Given the description of an element on the screen output the (x, y) to click on. 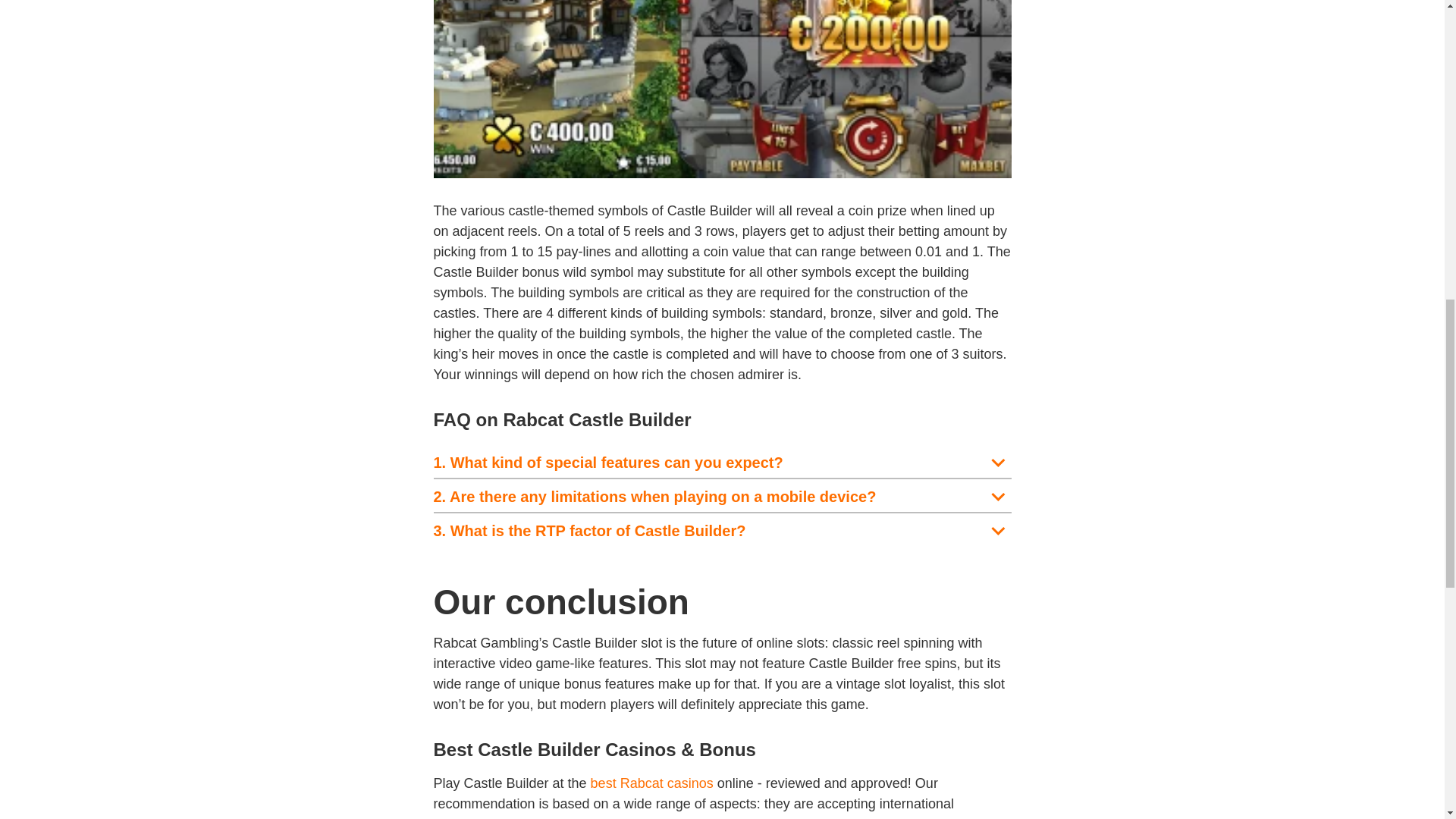
Paysafecard Online Casinos (889, 817)
EcoPayz Online Casinos (974, 817)
MasterCard Online Casinos (808, 817)
